Given the description of an element on the screen output the (x, y) to click on. 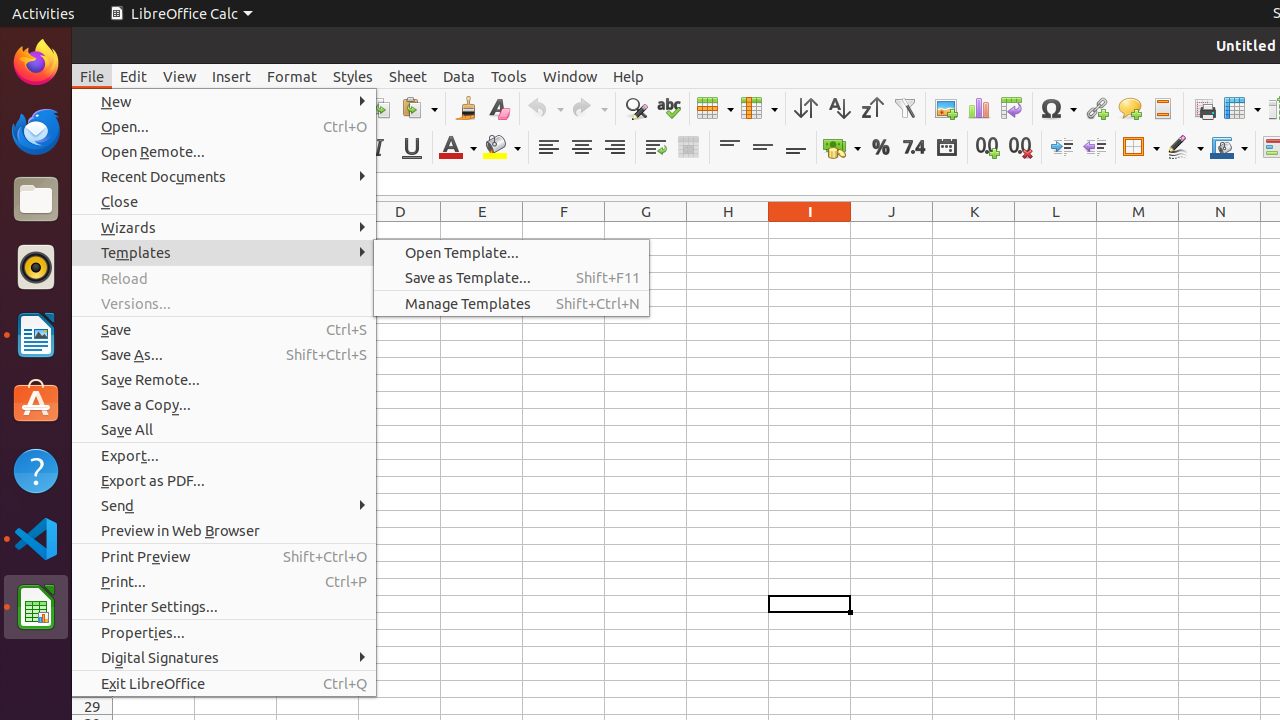
Sort Ascending Element type: push-button (838, 108)
Open... Element type: menu-item (224, 126)
Column Element type: push-button (759, 108)
Align Left Element type: push-button (548, 147)
Exit LibreOffice Element type: menu-item (224, 683)
